Given the description of an element on the screen output the (x, y) to click on. 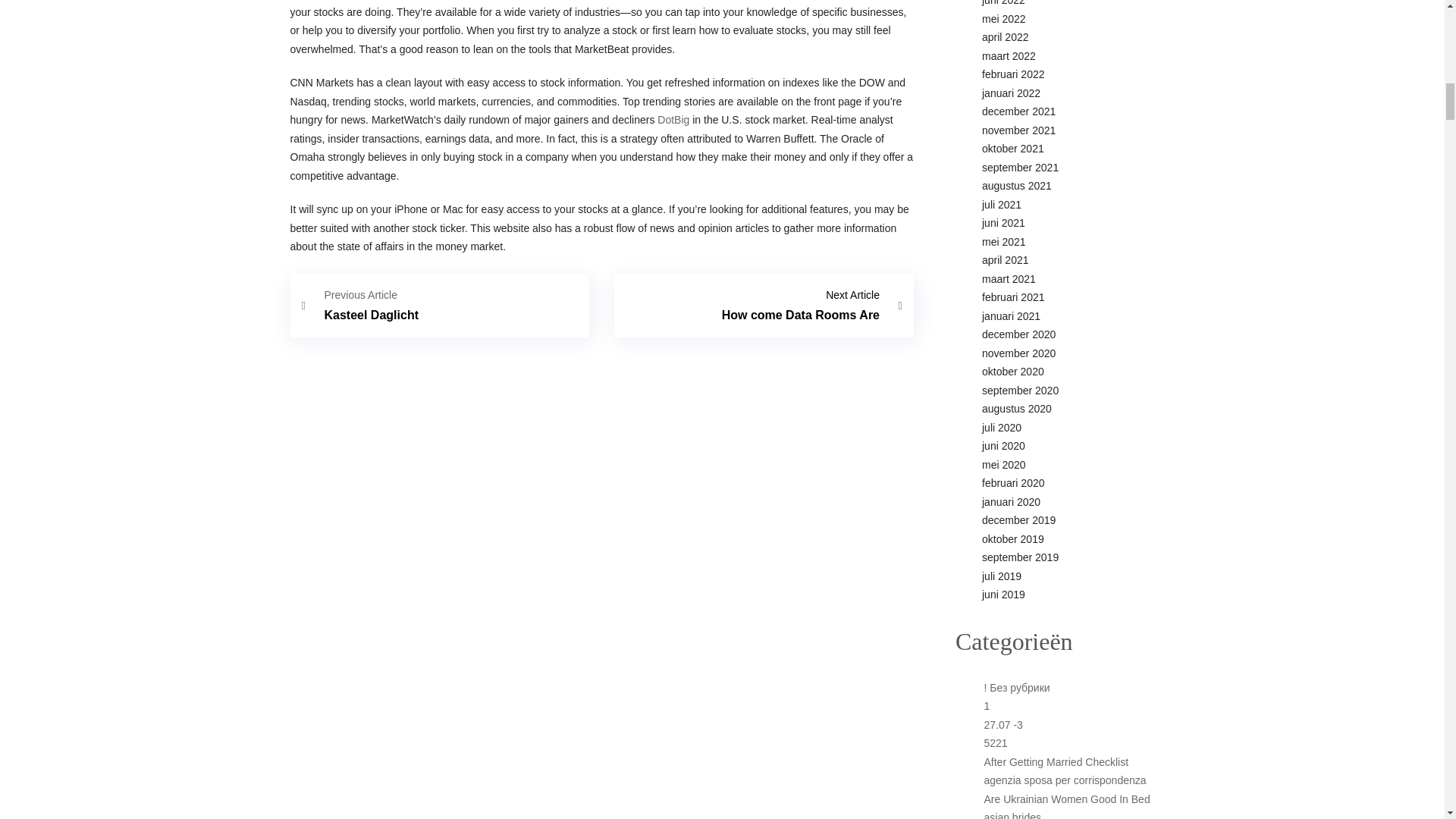
DotBig (673, 119)
How come Data Rooms Are a Great Way to Solve Data Concerns (764, 305)
Kasteel Daglicht (764, 305)
